Given the description of an element on the screen output the (x, y) to click on. 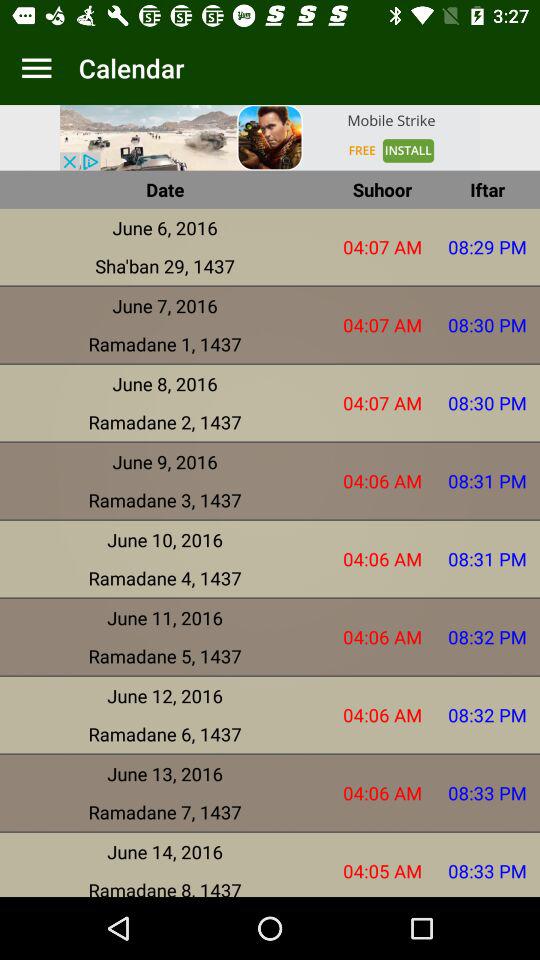
go to picter (270, 137)
